Given the description of an element on the screen output the (x, y) to click on. 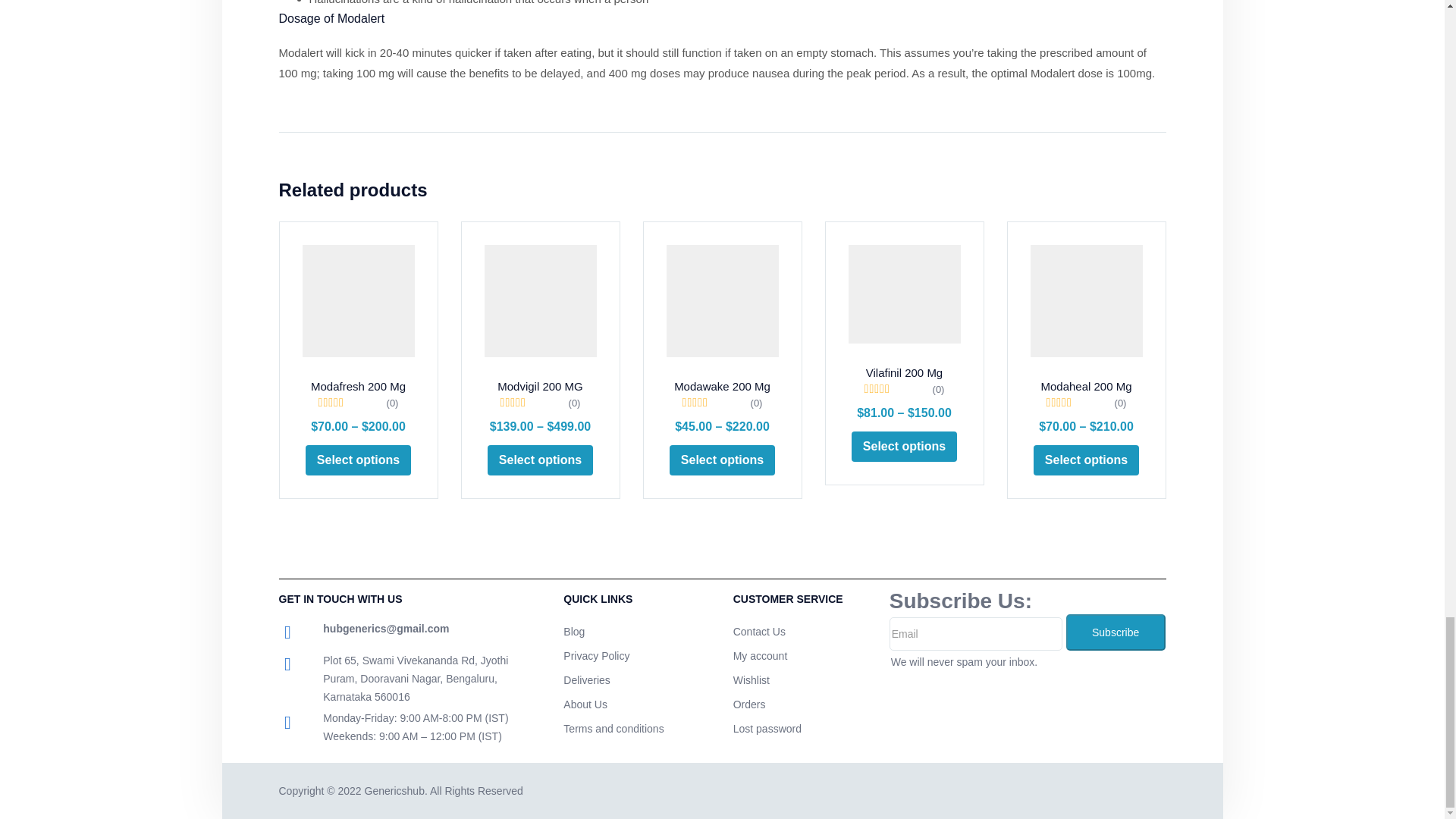
Select options (539, 460)
Modvigil 200 MG (539, 300)
Modafresh 200 Mg (357, 300)
Select options (357, 460)
